Given the description of an element on the screen output the (x, y) to click on. 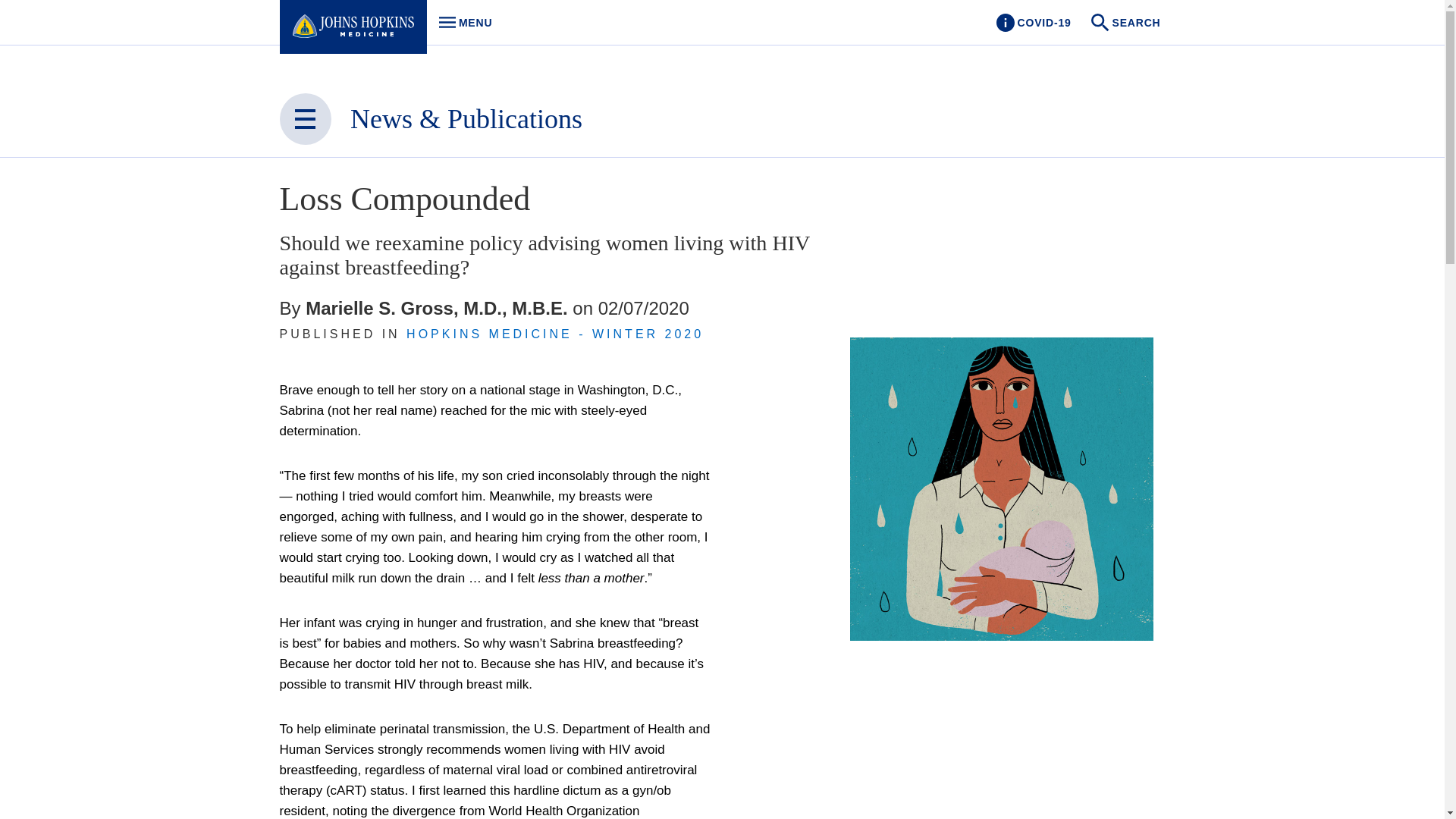
SEARCH (1126, 22)
COVID-19 (1033, 22)
Close Main Menu (304, 118)
HOPKINS MEDICINE - WINTER 2020 (461, 22)
